Given the description of an element on the screen output the (x, y) to click on. 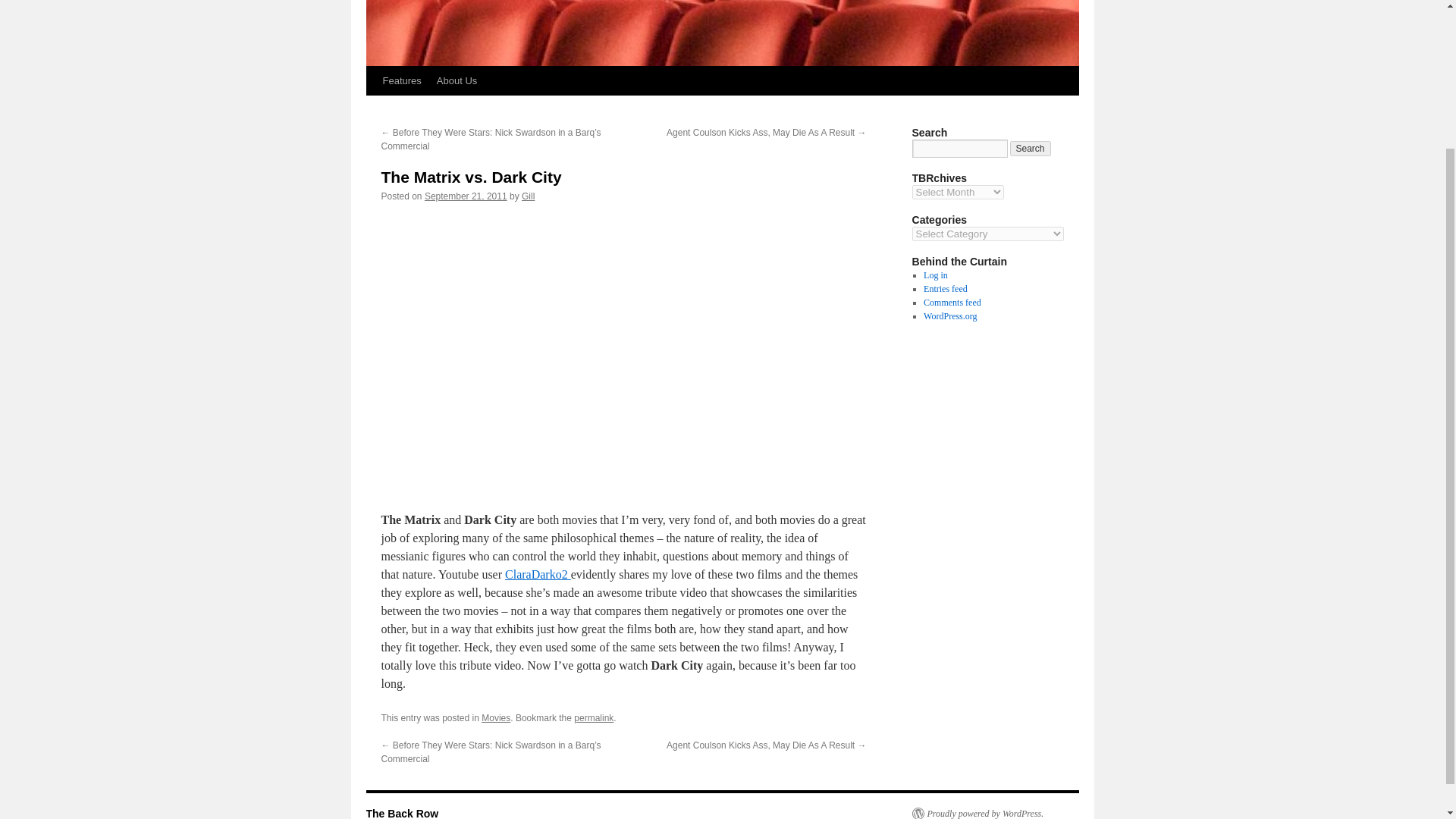
Gill (527, 195)
Log in (935, 275)
About Us (456, 80)
11:07 pm (465, 195)
Search (1030, 148)
permalink (592, 717)
ClaraDarko2 (537, 574)
WordPress.org (949, 316)
Entries feed (945, 288)
Features (401, 80)
View all posts by Gill (527, 195)
The Matrix vs. Dark City. (623, 350)
Movies (496, 717)
September 21, 2011 (465, 195)
Search (1030, 148)
